Given the description of an element on the screen output the (x, y) to click on. 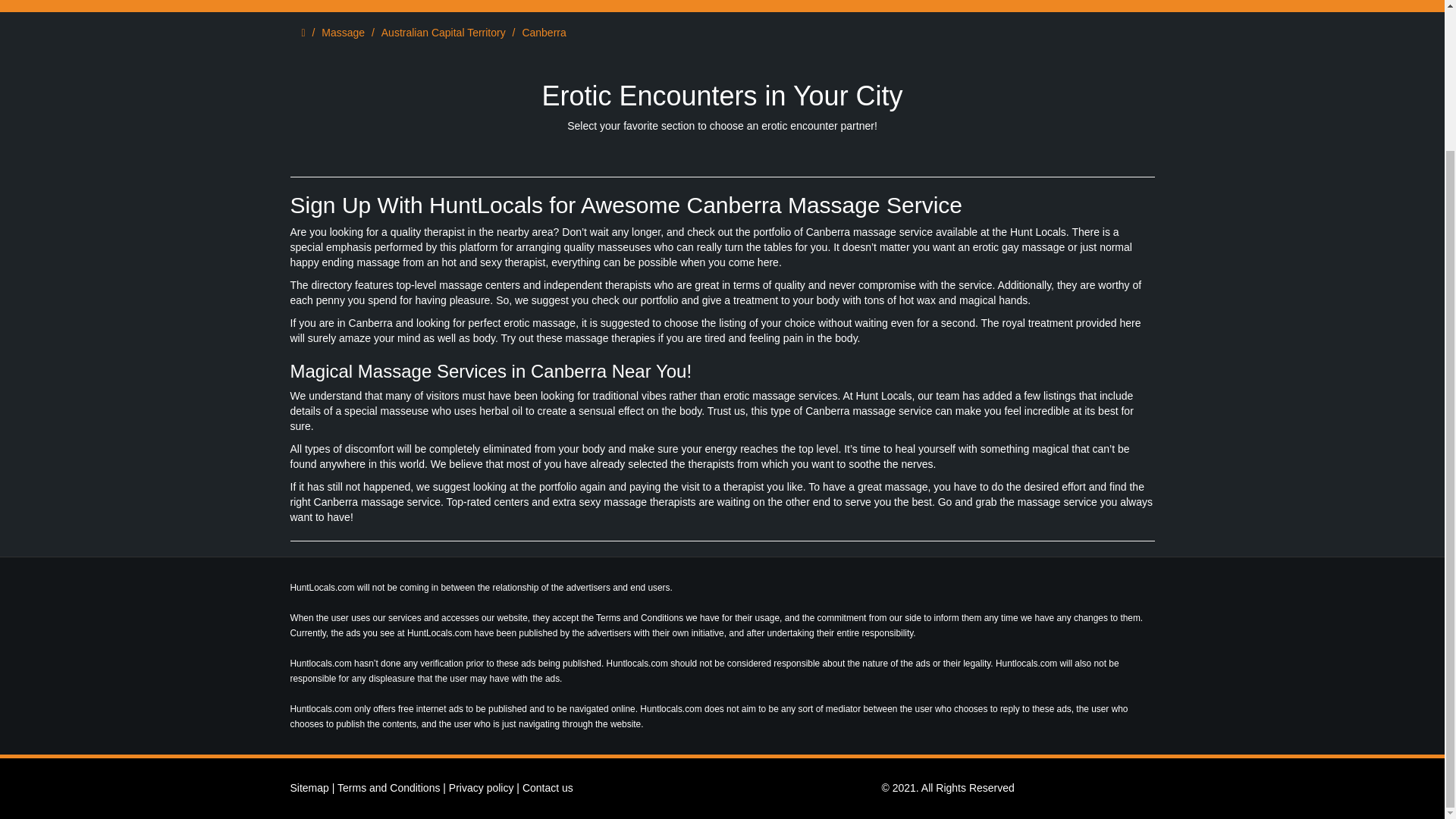
Sitemap (309, 787)
Contact us (547, 787)
Privacy policy (480, 787)
Terms and Conditions (388, 787)
Canberra (543, 32)
Australian Capital Territory (443, 32)
Massage (343, 32)
